Given the description of an element on the screen output the (x, y) to click on. 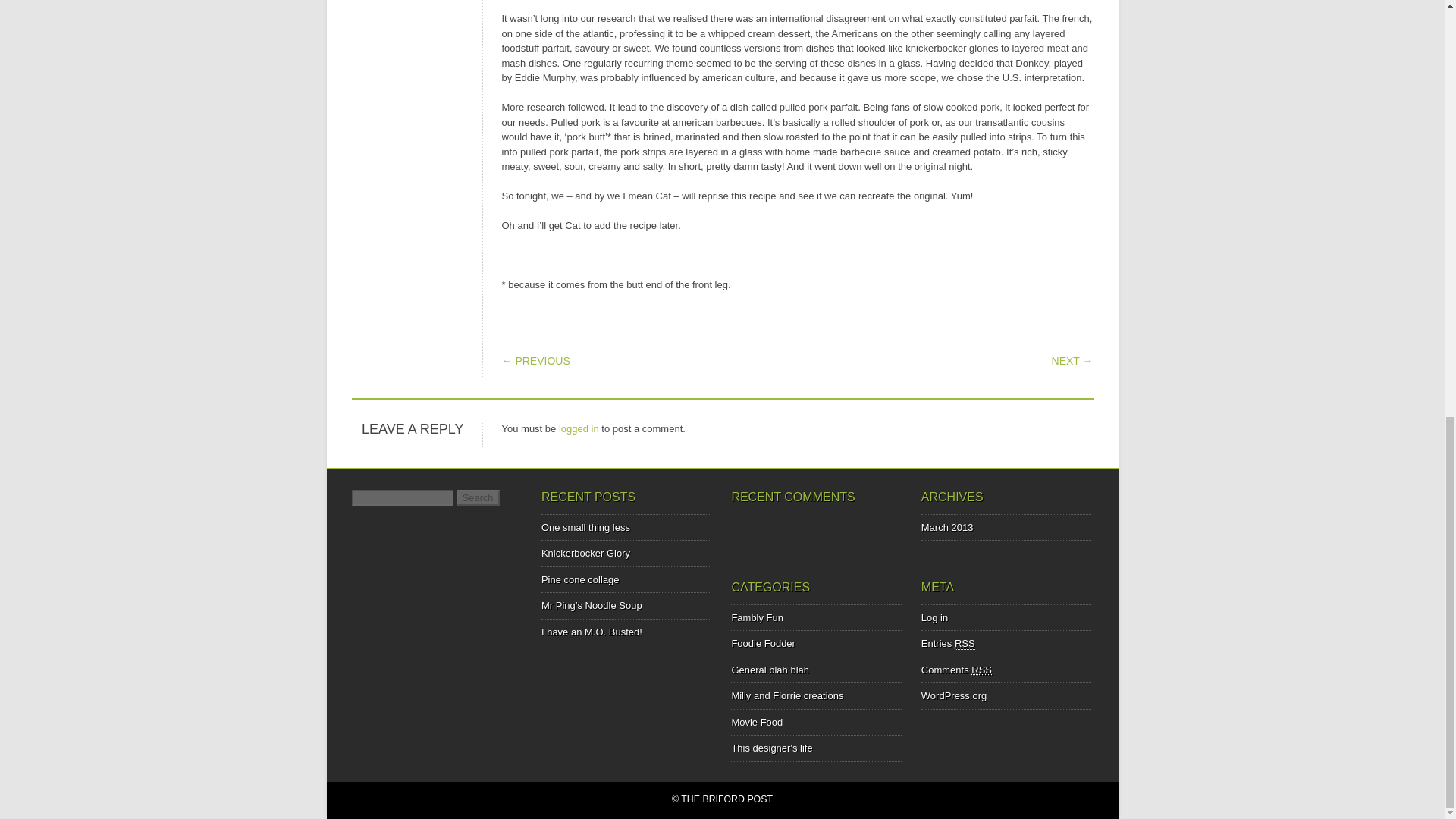
Knickerbocker Glory (585, 552)
Milly and Florrie creations (786, 695)
Movie Food (756, 722)
Foodie Fodder (762, 643)
logged in (578, 428)
Notes on food, recipes and all things gastro. (762, 643)
Comments RSS (956, 670)
Entries RSS (948, 644)
One small thing less (585, 527)
Pine cone collage (580, 579)
View all posts filed under Milly and Florrie creations (786, 695)
General blah blah (769, 669)
I have an M.O. Busted! (591, 632)
WordPress.org (954, 695)
Search (478, 497)
